Given the description of an element on the screen output the (x, y) to click on. 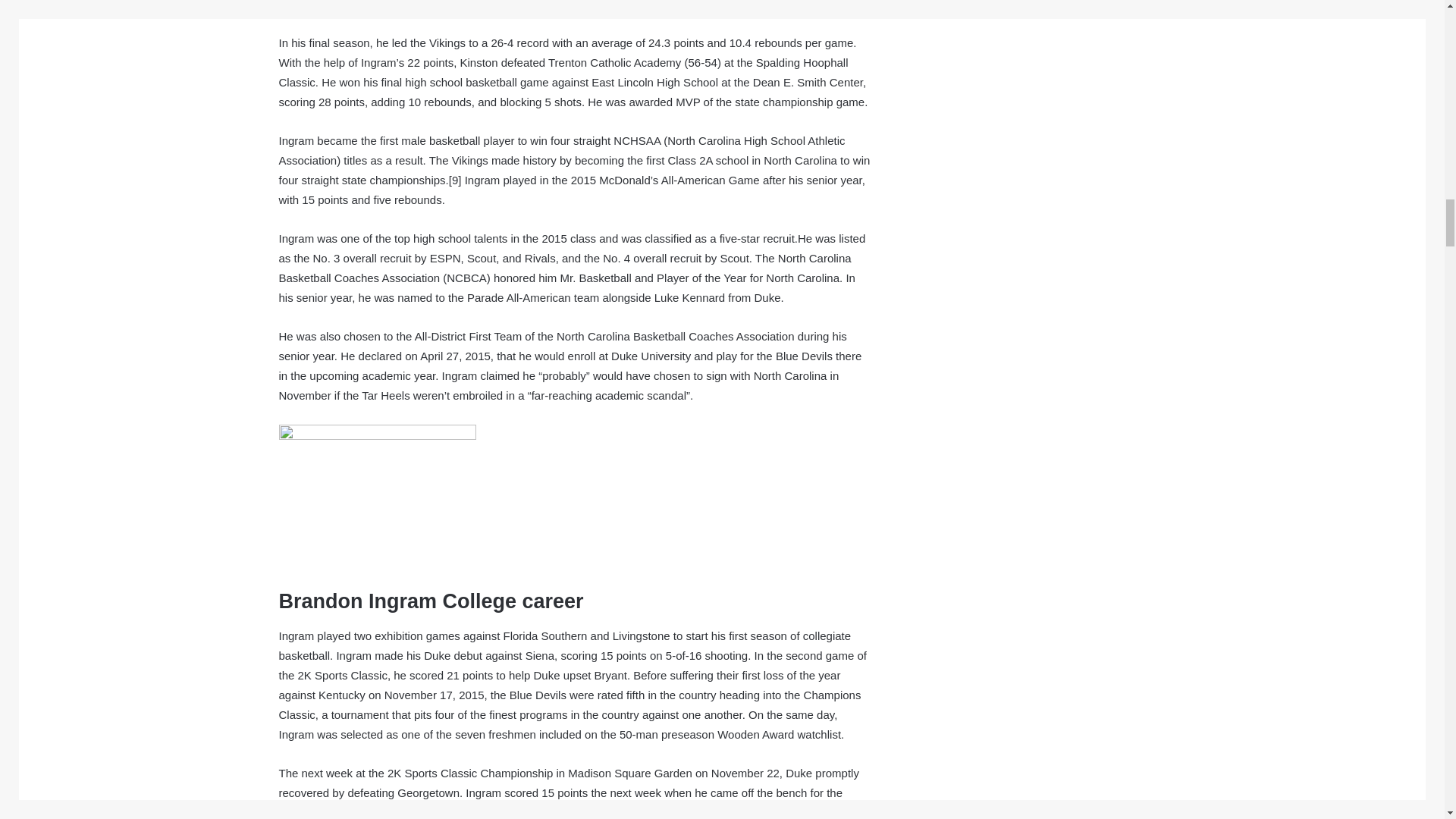
Brandon Ingram's All-Star LIFESTYLE is NOT so... (574, 6)
